Given the description of an element on the screen output the (x, y) to click on. 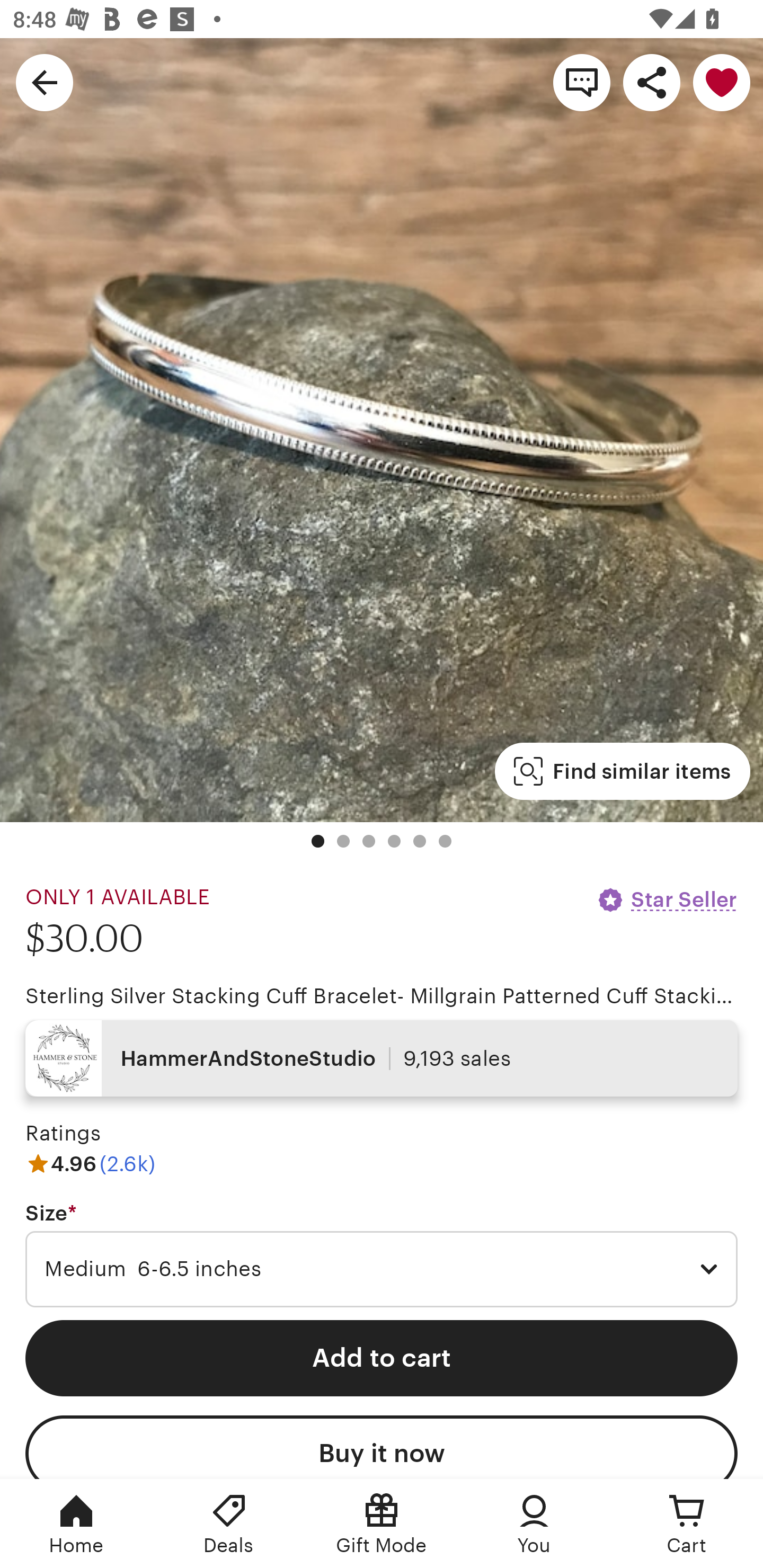
Navigate up (44, 81)
Contact shop (581, 81)
Share (651, 81)
Find similar items (622, 771)
Star Seller (666, 899)
HammerAndStoneStudio 9,193 sales (381, 1058)
Ratings (62, 1133)
4.96 (2.6k) (90, 1163)
Size * Required Medium  6-6.5 inches (381, 1254)
Medium  6-6.5 inches (381, 1268)
Add to cart (381, 1358)
Buy it now (381, 1446)
Deals (228, 1523)
Gift Mode (381, 1523)
You (533, 1523)
Cart (686, 1523)
